Given the description of an element on the screen output the (x, y) to click on. 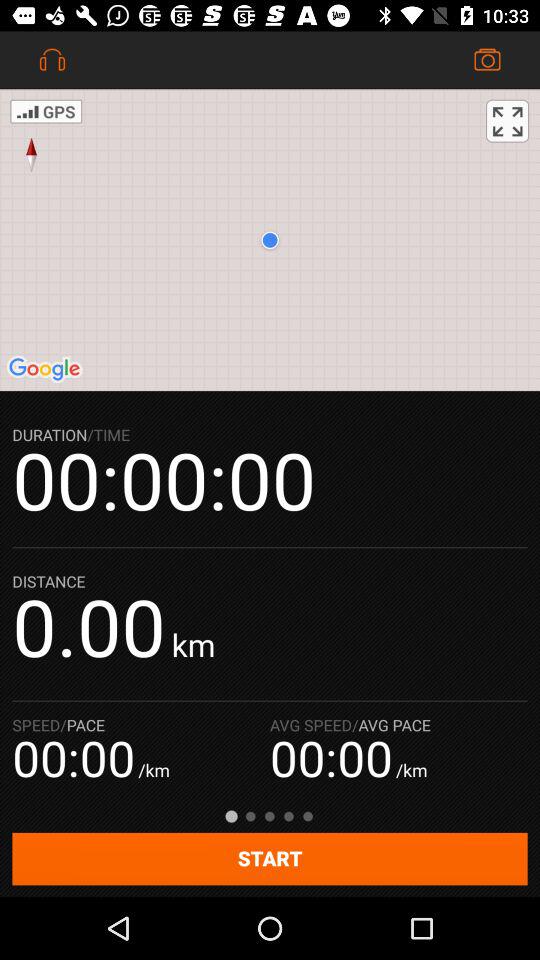
swipe to start (269, 858)
